Given the description of an element on the screen output the (x, y) to click on. 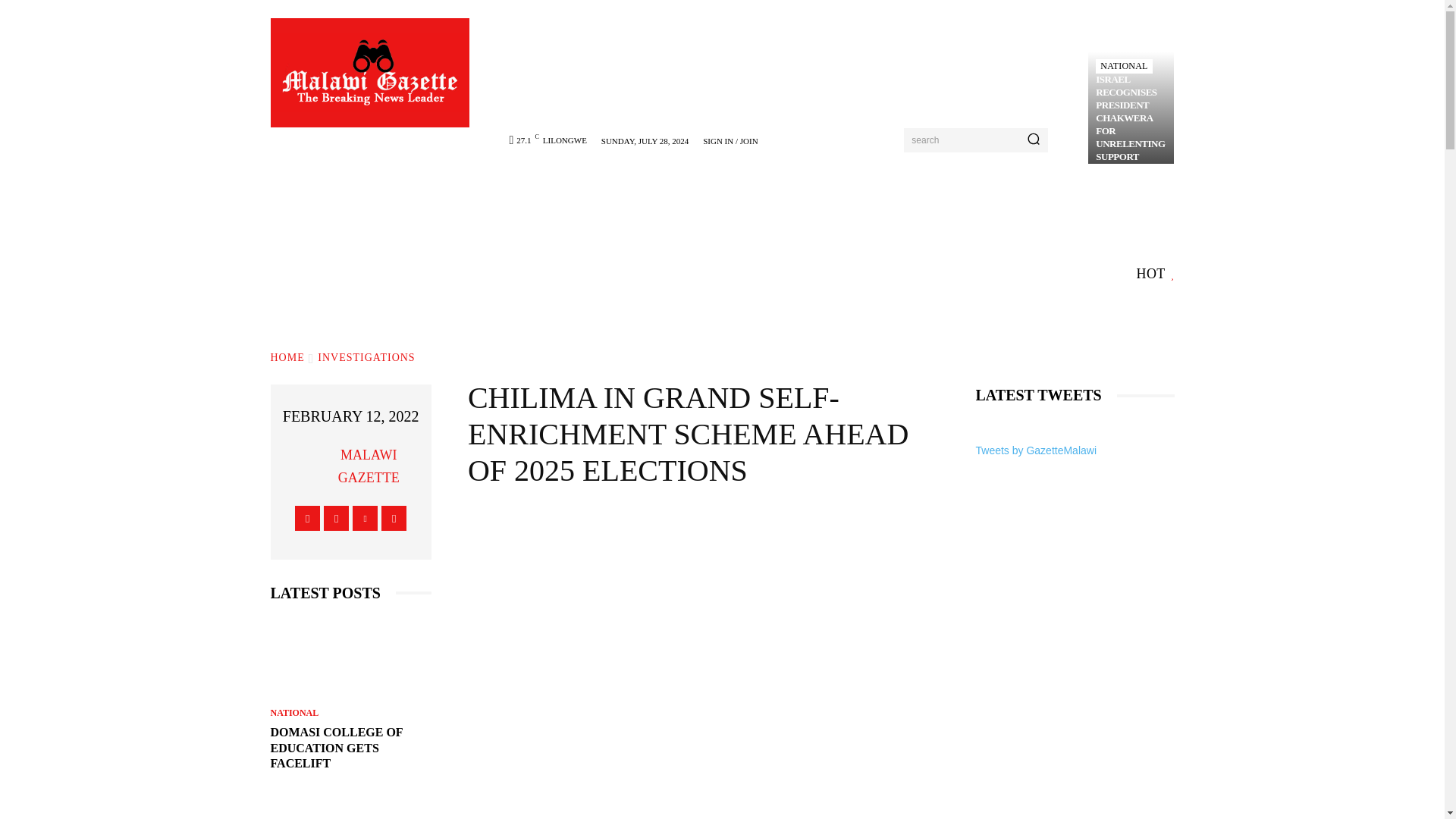
ISRAEL RECOGNISES PRESIDENT CHAKWERA FOR UNRELENTING SUPPORT (1130, 117)
ISRAEL RECOGNISES PRESIDENT CHAKWERA FOR UNRELENTING SUPPORT (1130, 117)
ISRAEL RECOGNISES PRESIDENT CHAKWERA FOR UNRELENTING SUPPORT (1130, 107)
NATIONAL (1123, 65)
